Given the description of an element on the screen output the (x, y) to click on. 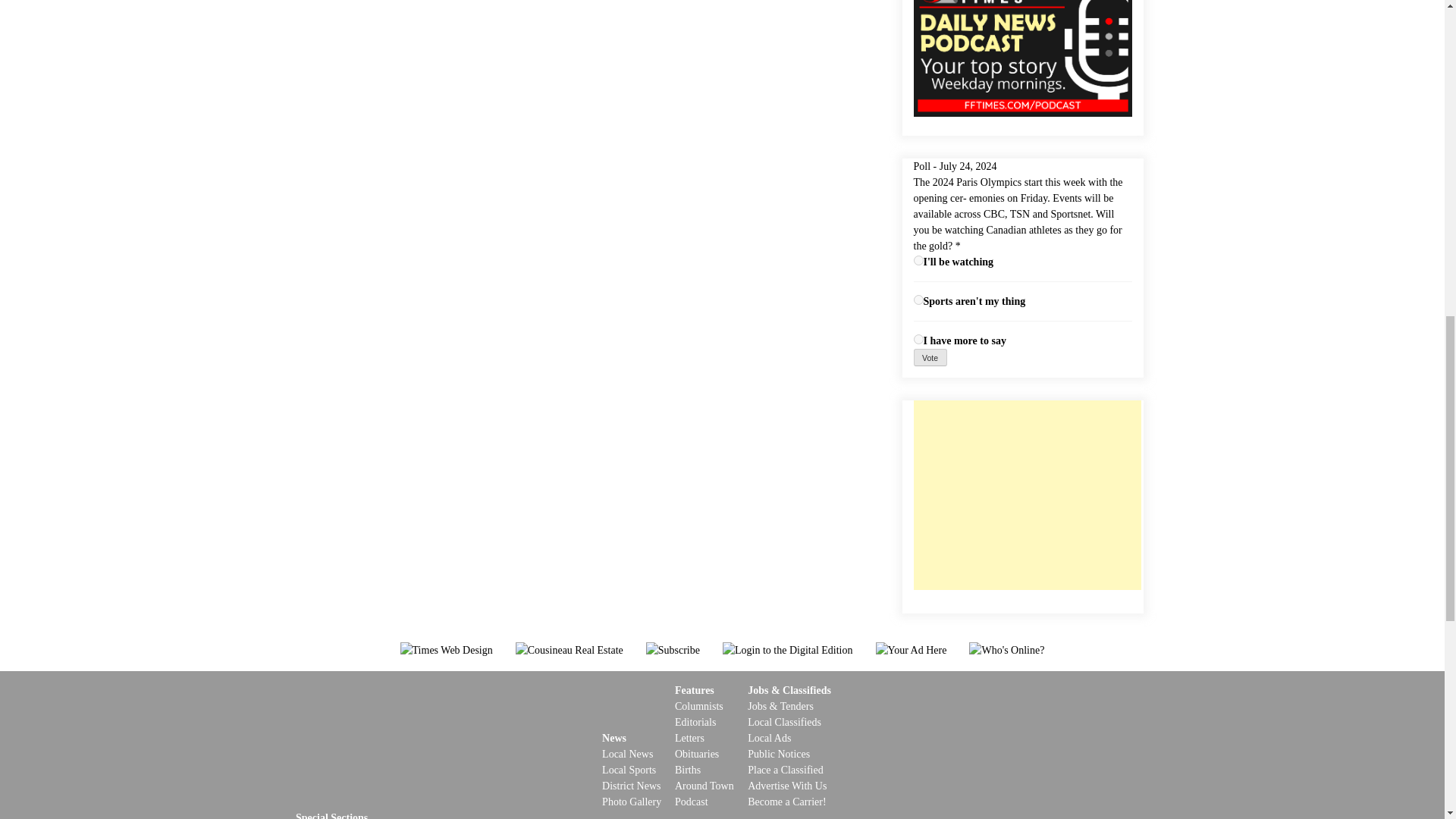
I'll be watching (917, 260)
Sports aren't my thing (917, 299)
I have more to say (917, 338)
